Given the description of an element on the screen output the (x, y) to click on. 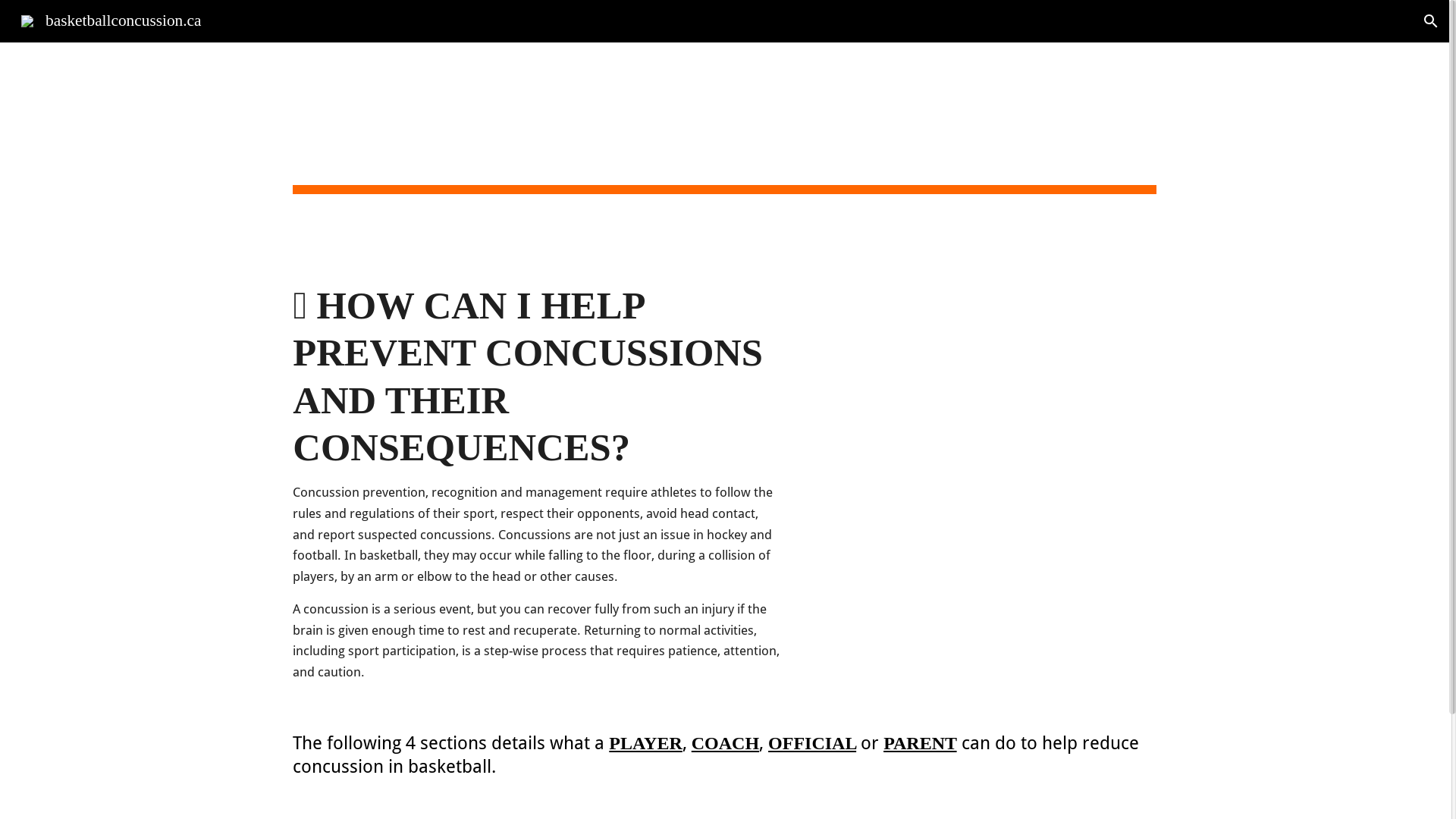
basketballconcussion.ca Element type: text (111, 19)
OFFICIAL Element type: text (812, 742)
COACH Element type: text (725, 742)
PLAYER Element type: text (644, 742)
PARENT Element type: text (919, 742)
